Given the description of an element on the screen output the (x, y) to click on. 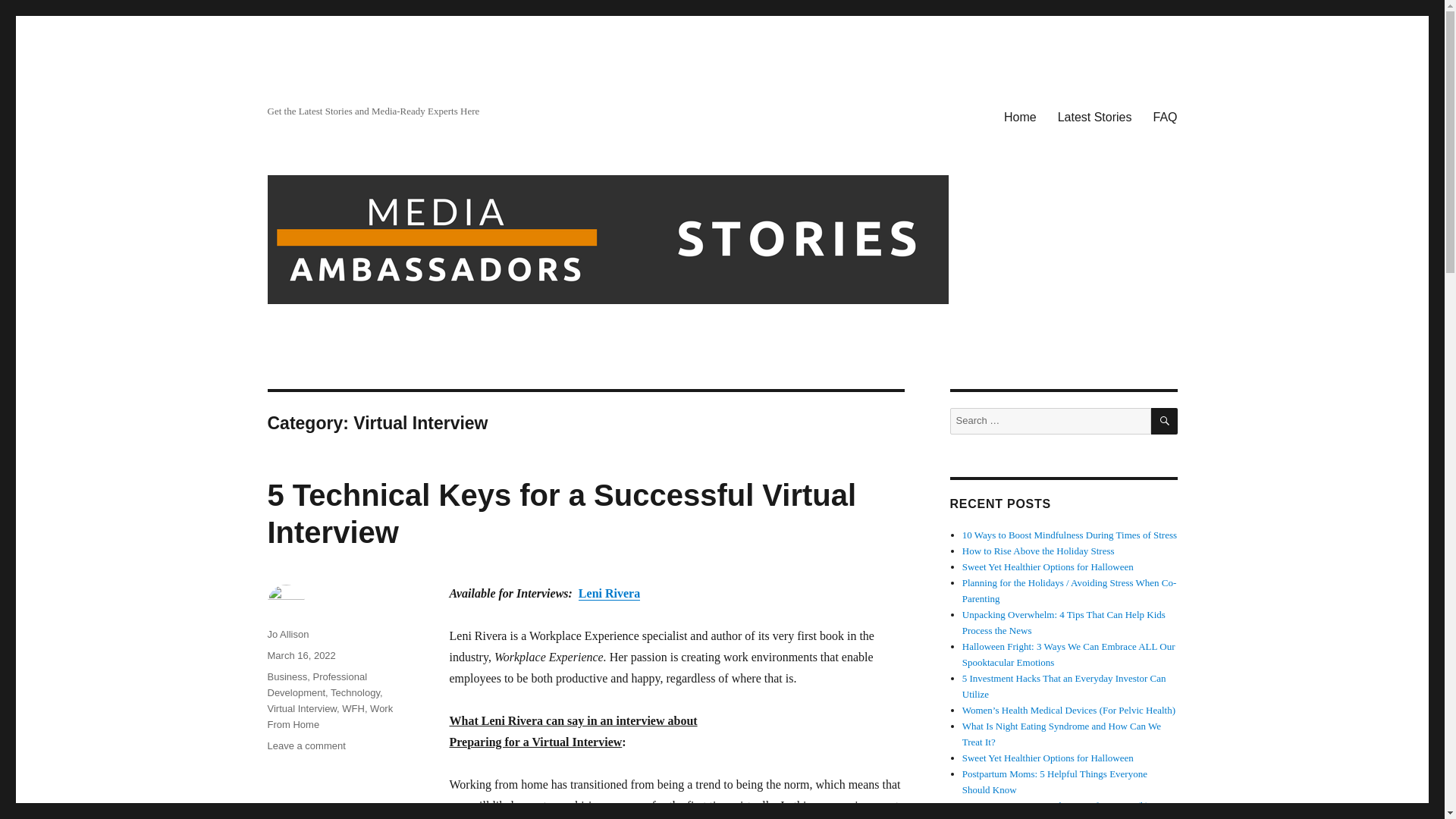
FAQ (1164, 116)
Virtual Interview (301, 708)
What Is Night Eating Syndrome and How Can We Treat It? (1061, 733)
Work From Home (329, 716)
Jo Allison (287, 633)
SEARCH (1164, 420)
March 16, 2022 (300, 655)
Postpartum Moms: 5 Helpful Things Everyone Should Know (1054, 781)
Technology (355, 692)
